Given the description of an element on the screen output the (x, y) to click on. 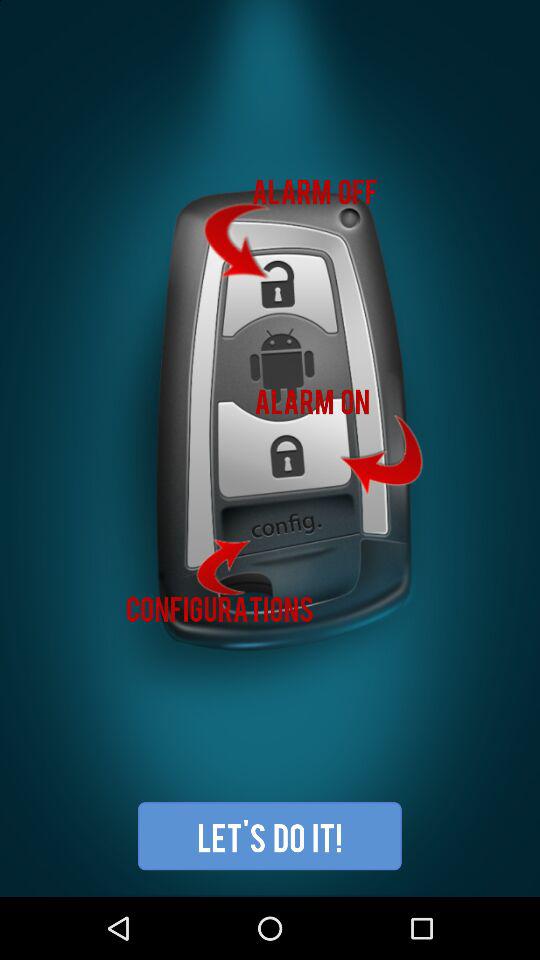
options and settings (269, 448)
